Given the description of an element on the screen output the (x, y) to click on. 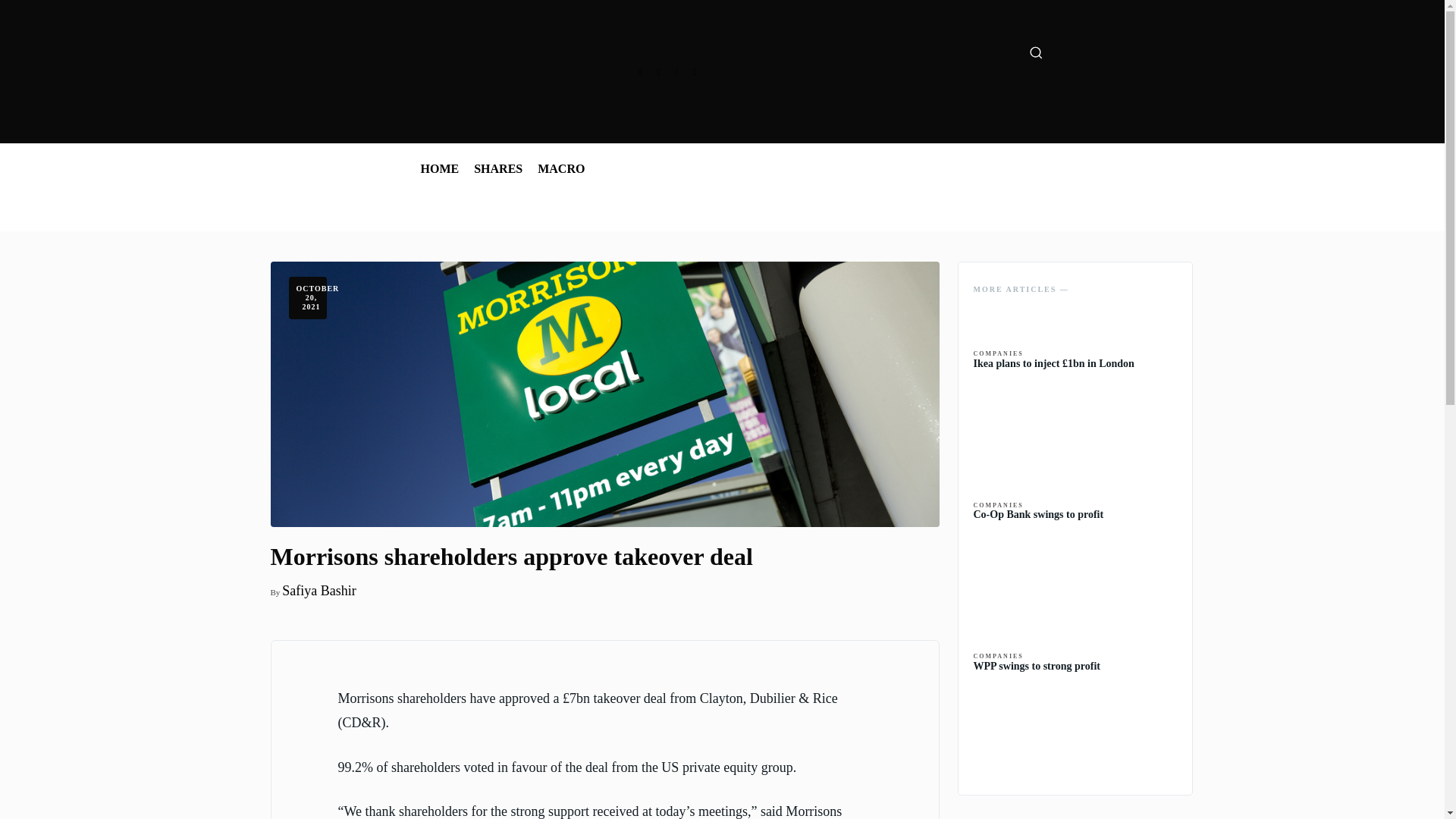
Instagram (657, 72)
Youtube (694, 72)
Co-Op Bank swings to profit (1038, 514)
Facebook (639, 72)
WPP swings to strong profit (1075, 728)
COMPANIES (998, 353)
WPP swings to strong profit (1037, 665)
Twitter (675, 72)
HOME (438, 168)
WPP swings to strong profit (1037, 665)
